Given the description of an element on the screen output the (x, y) to click on. 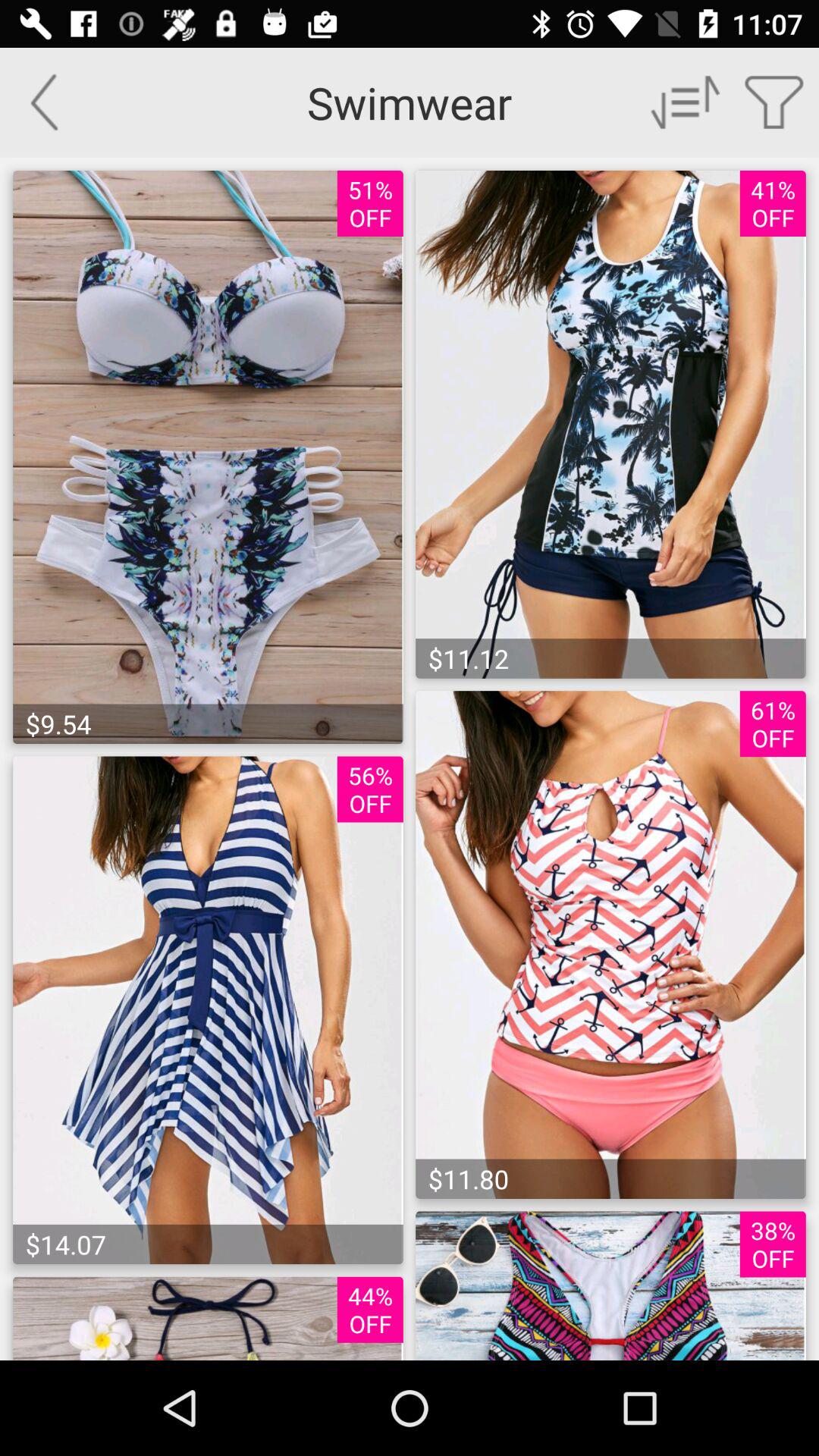
go back (44, 102)
